Given the description of an element on the screen output the (x, y) to click on. 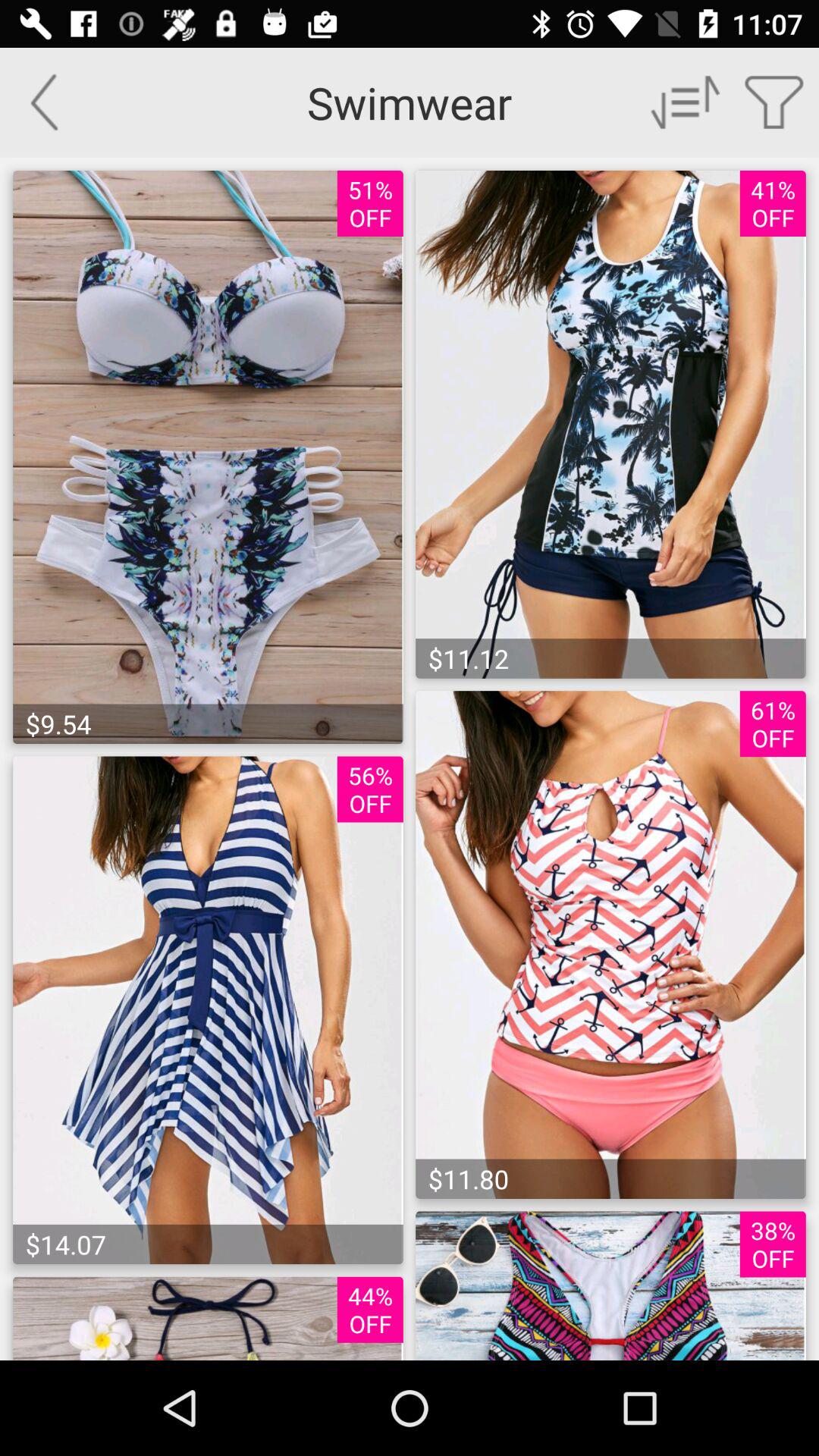
go back (44, 102)
